Given the description of an element on the screen output the (x, y) to click on. 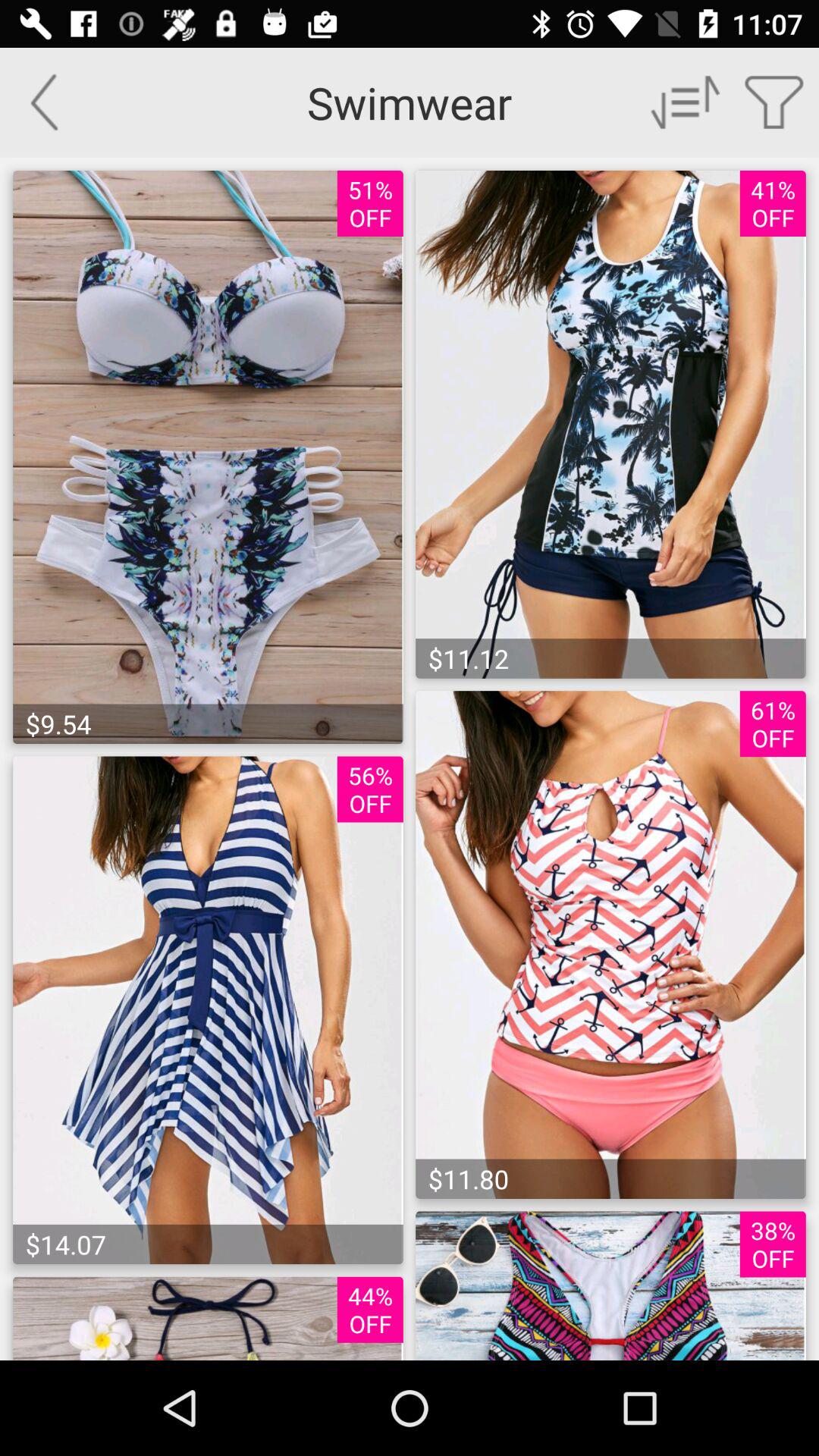
go back (44, 102)
